Given the description of an element on the screen output the (x, y) to click on. 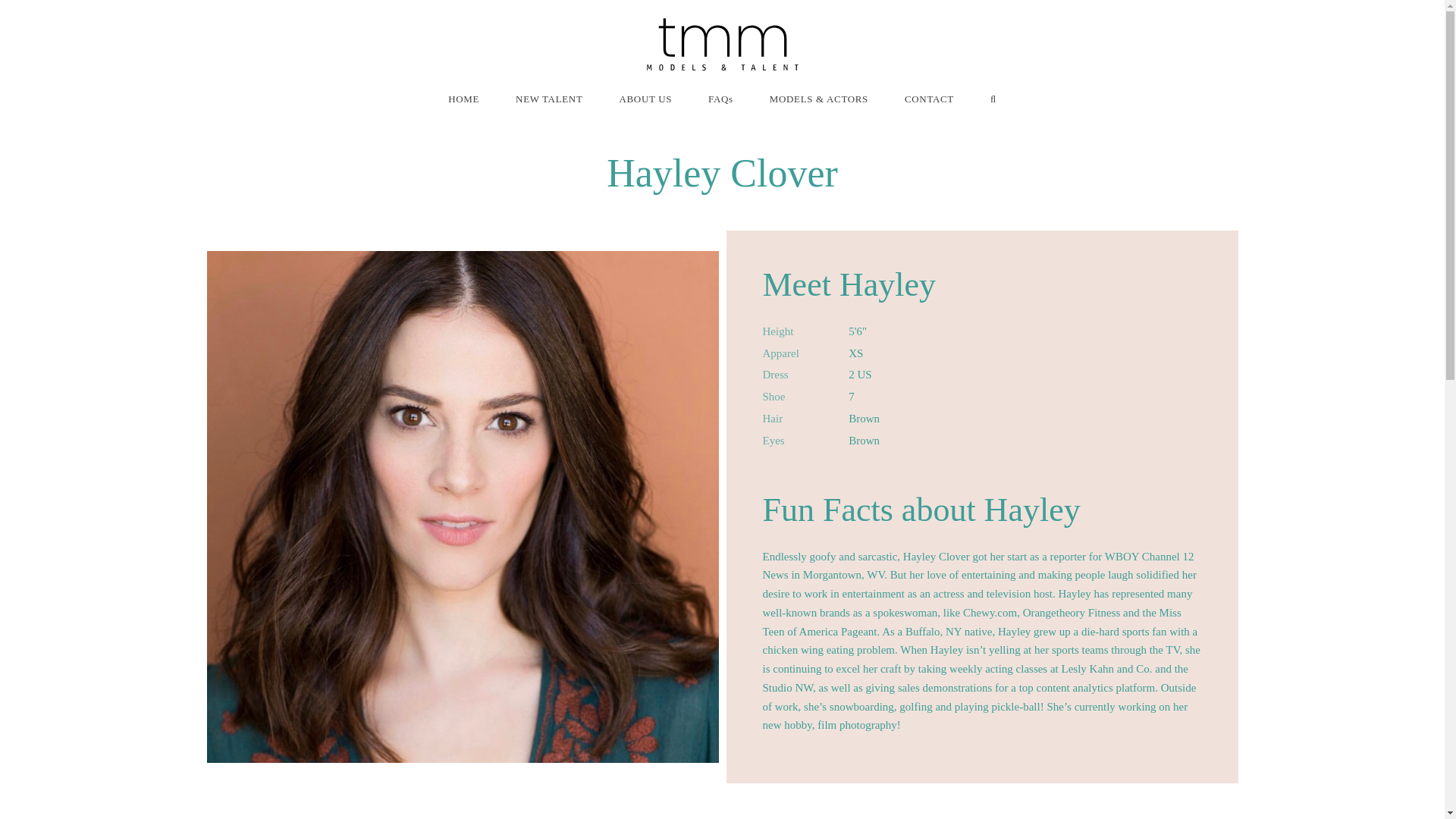
Return to Home (721, 44)
Search Talent (993, 99)
ABOUT US (645, 99)
CONTACT (928, 99)
HOME (463, 99)
SEARCH (993, 99)
NEW TALENT (548, 99)
FAQs (720, 99)
